Given the description of an element on the screen output the (x, y) to click on. 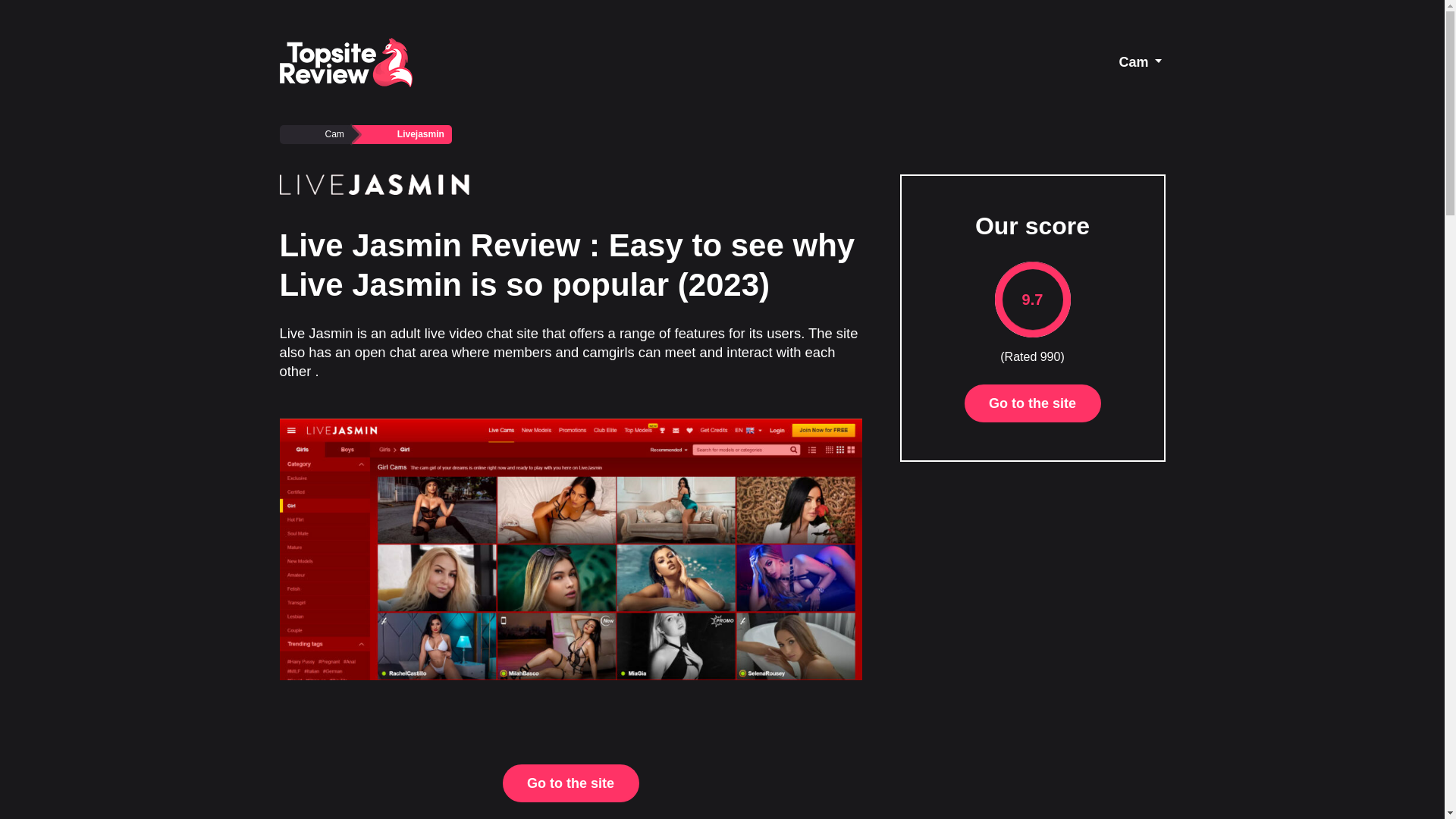
Cam (1139, 62)
Go to the site (570, 783)
Cam (314, 134)
Go to the site (1031, 403)
